Given the description of an element on the screen output the (x, y) to click on. 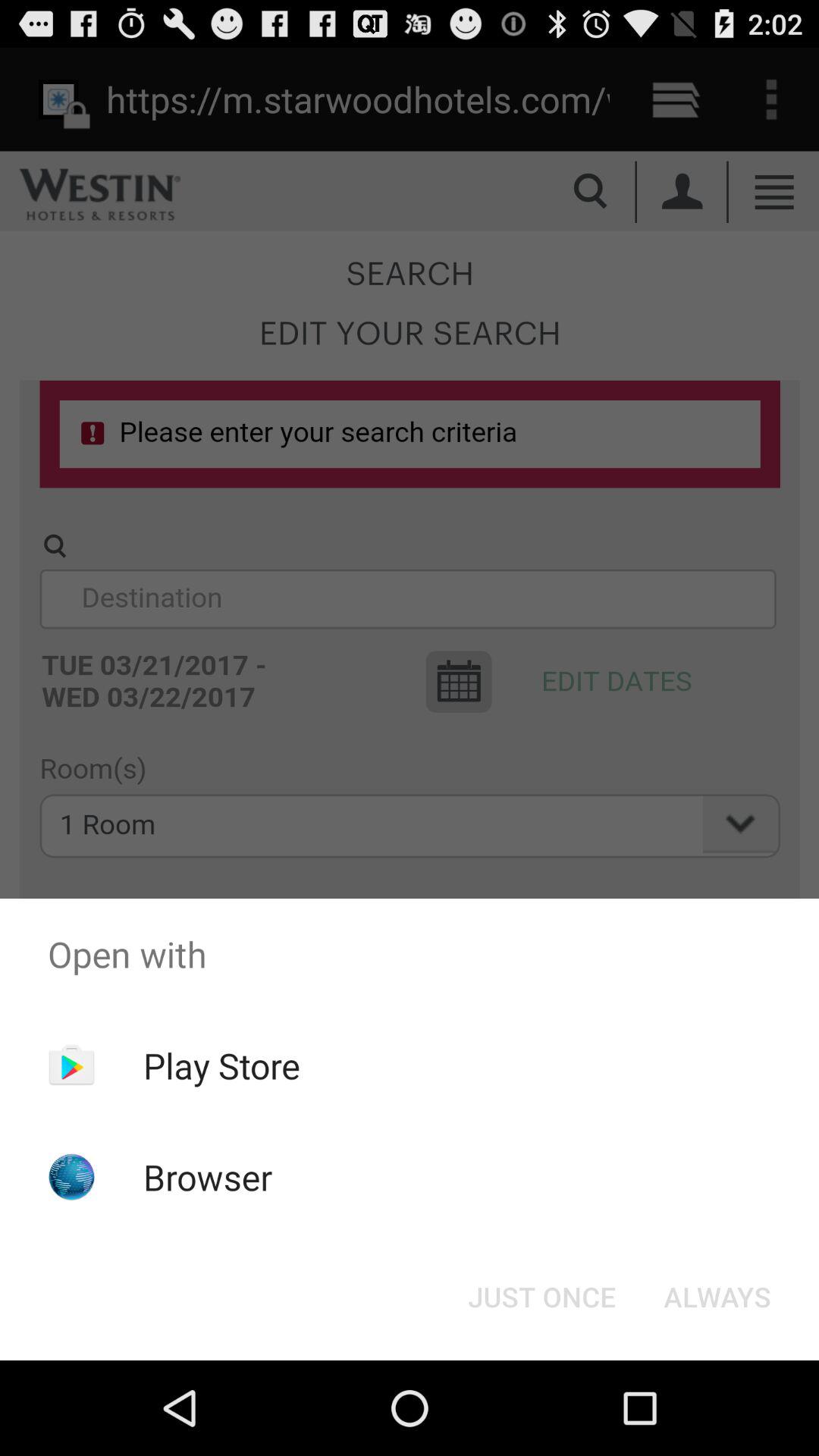
choose the button at the bottom (541, 1296)
